Given the description of an element on the screen output the (x, y) to click on. 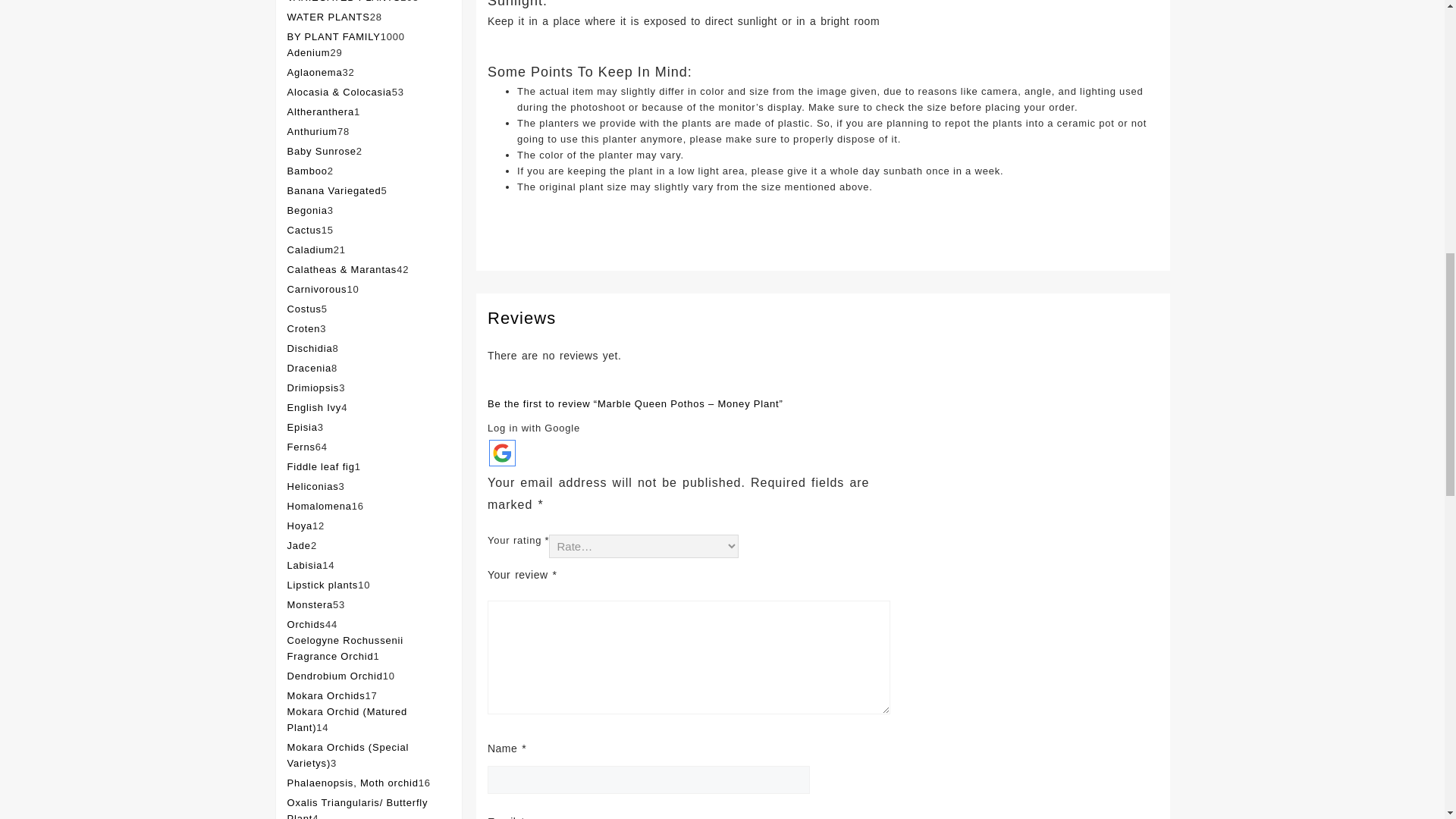
Login with Google (502, 452)
